Given the description of an element on the screen output the (x, y) to click on. 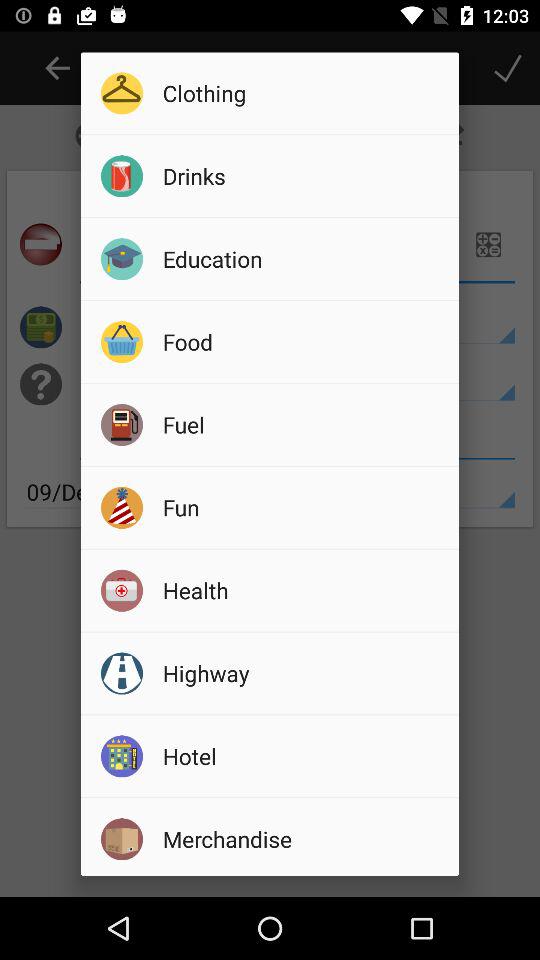
jump until health (303, 590)
